Given the description of an element on the screen output the (x, y) to click on. 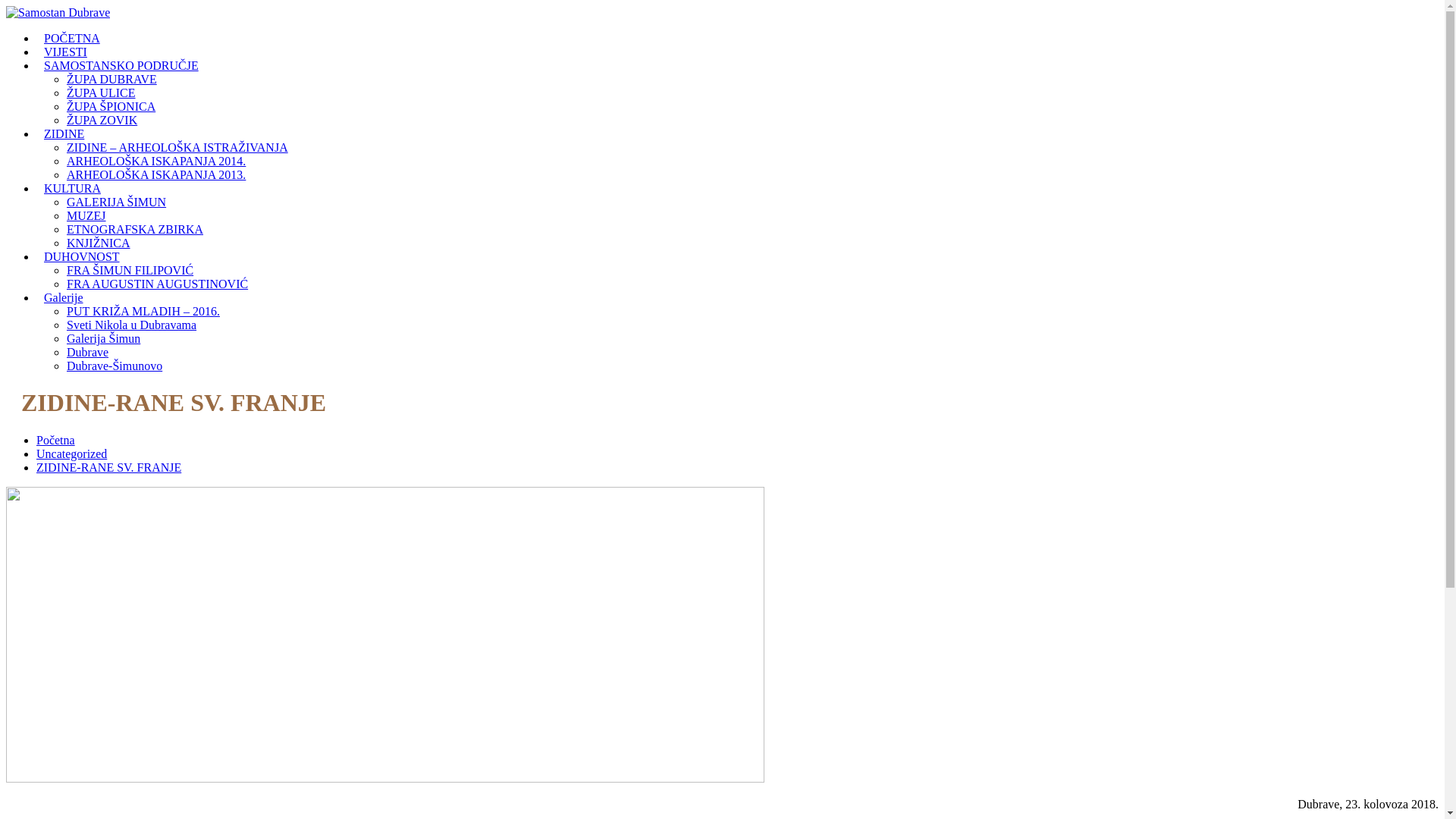
VIJESTI Element type: text (65, 51)
Dubrave Element type: text (87, 351)
ETNOGRAFSKA ZBIRKA Element type: text (134, 228)
Sveti Nikola u Dubravama Element type: text (131, 324)
KULTURA Element type: text (72, 188)
ZIDINE Element type: text (63, 133)
ZIDINE-RANE SV. FRANJE Element type: text (108, 467)
Uncategorized Element type: text (71, 453)
Galerije Element type: text (63, 297)
Samostan Dubrave Element type: hover (57, 12)
DUHOVNOST Element type: text (81, 256)
MUZEJ Element type: text (86, 215)
